Given the description of an element on the screen output the (x, y) to click on. 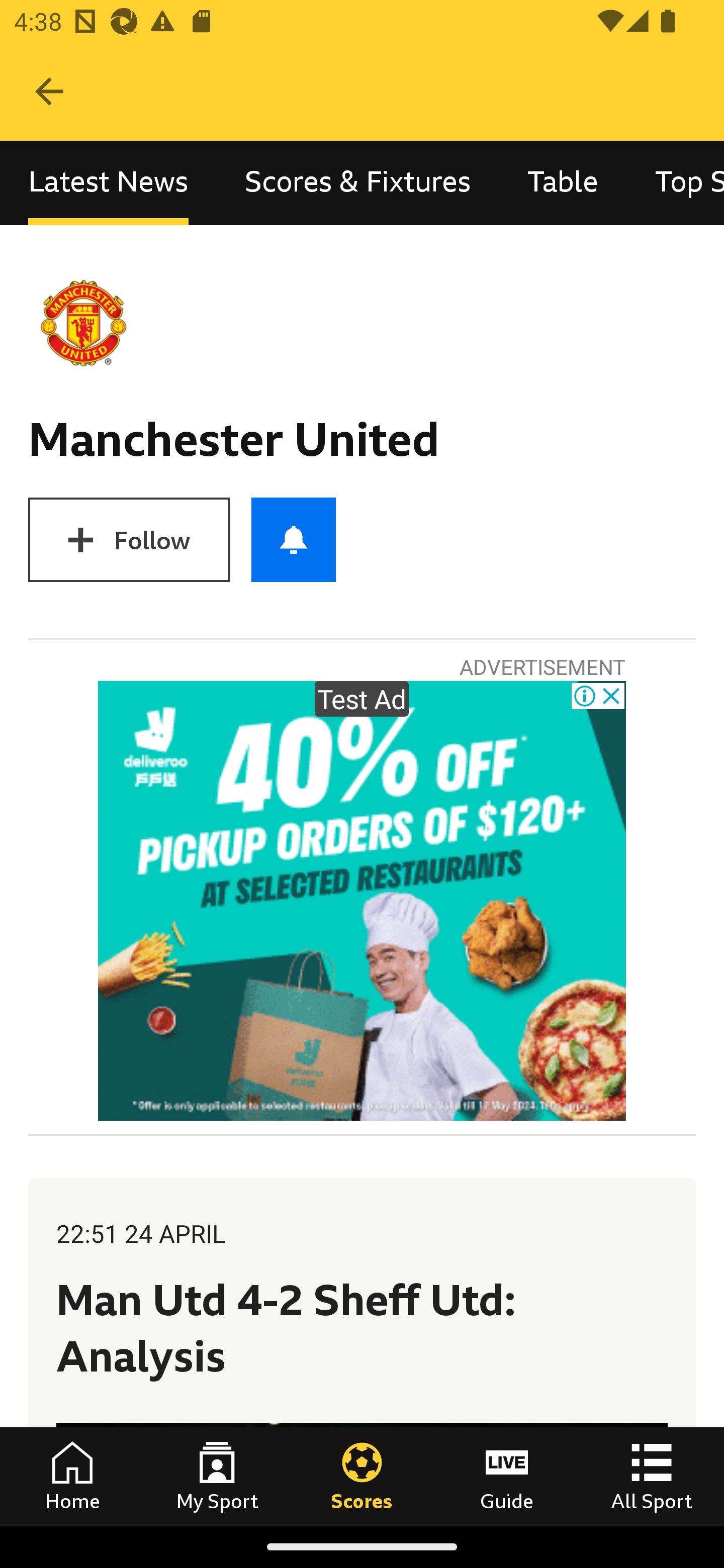
Navigate up (49, 91)
Latest News, selected Latest News (108, 183)
Scores & Fixtures (357, 183)
Table (562, 183)
Follow Manchester United Follow (129, 539)
Push notifications for Manchester United (293, 539)
Advertisement (361, 900)
Home (72, 1475)
My Sport (216, 1475)
Guide (506, 1475)
All Sport (651, 1475)
